Given the description of an element on the screen output the (x, y) to click on. 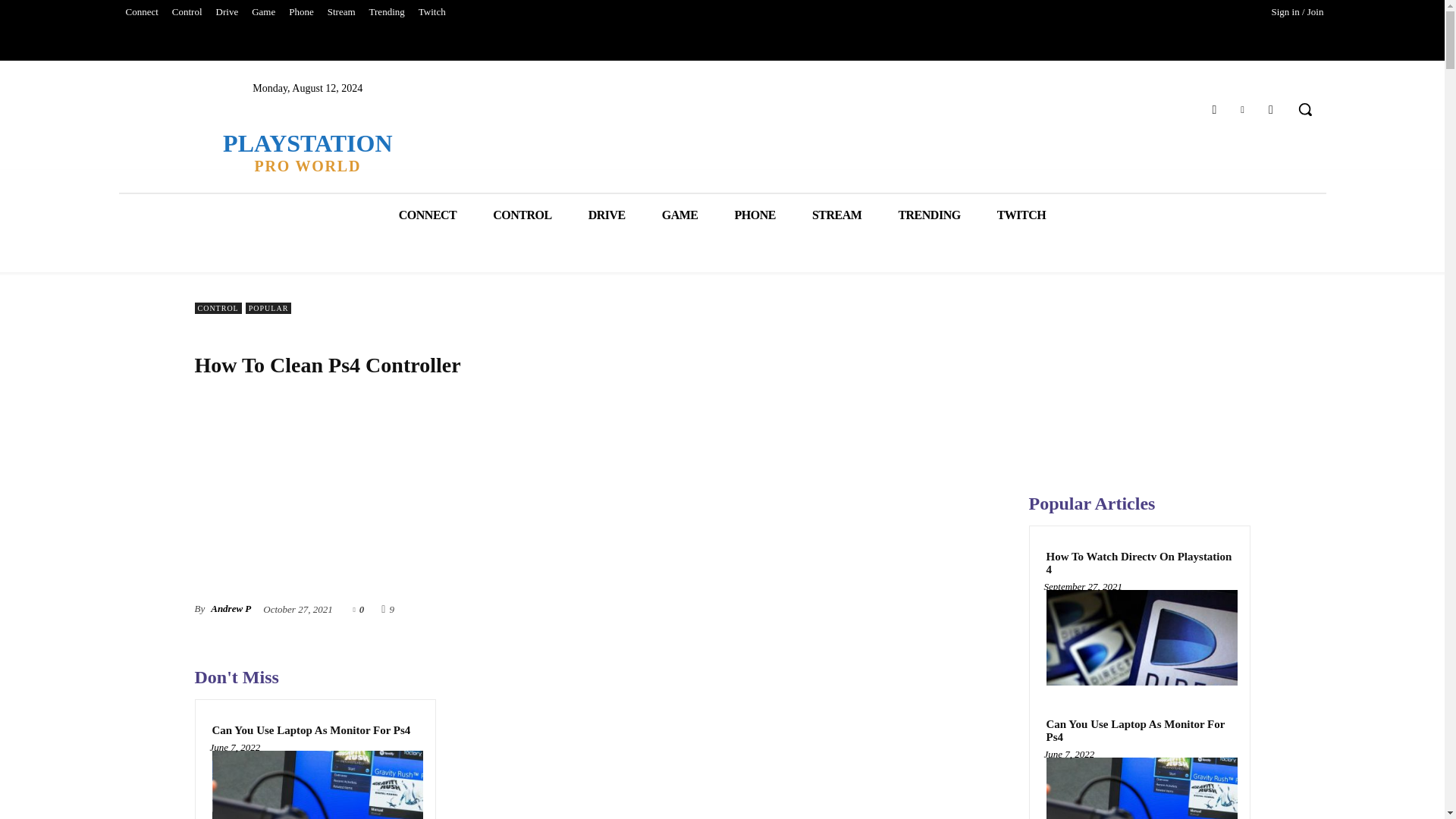
Facebook (1214, 109)
CONTROL (521, 214)
Twitch (432, 12)
Connect (140, 12)
Youtube (1270, 109)
DRIVE (606, 214)
Twitter (306, 151)
Can You Use Laptop As Monitor For Ps4 (1241, 109)
